Given the description of an element on the screen output the (x, y) to click on. 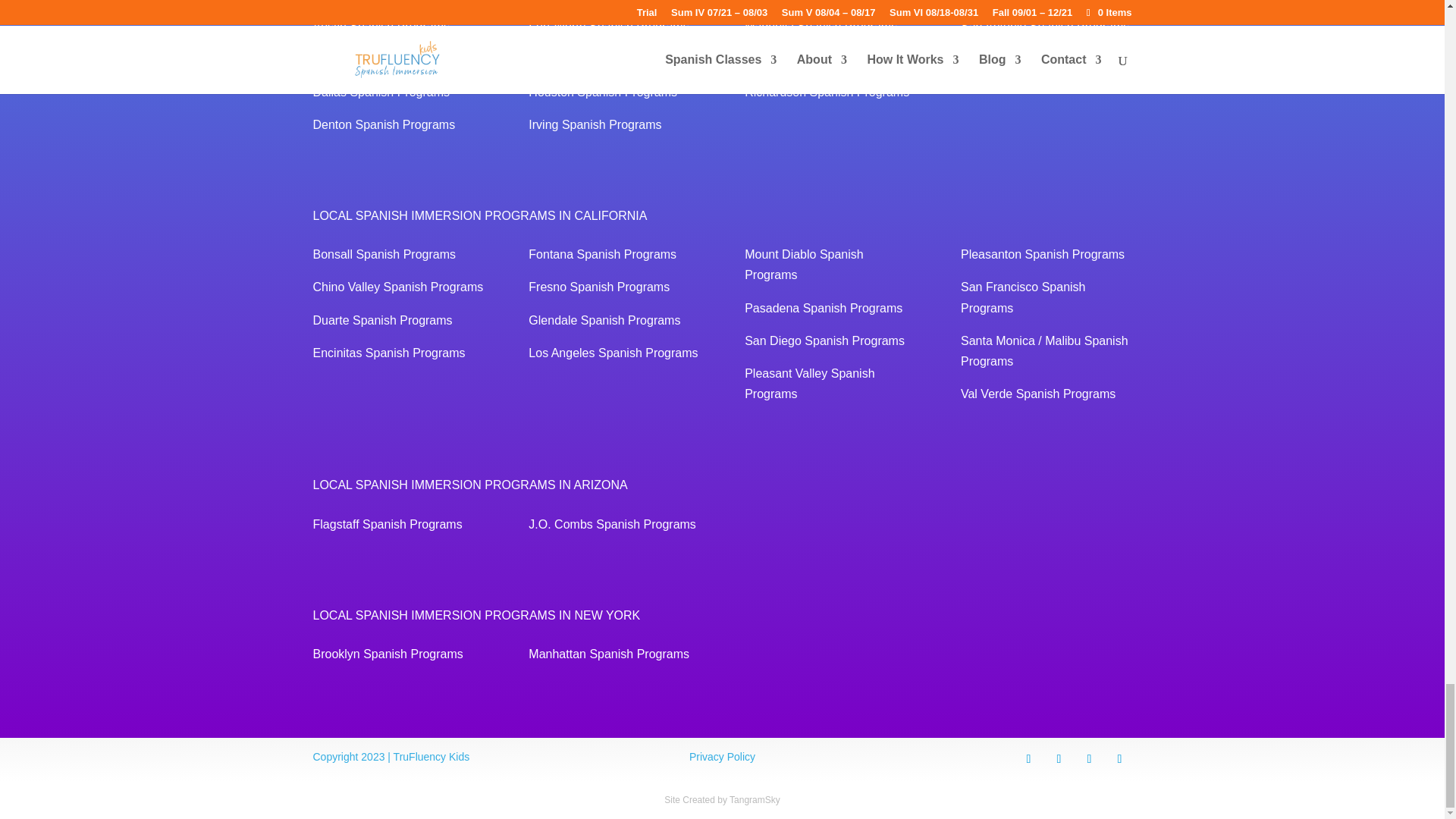
Follow on Instagram (1028, 758)
Follow on Youtube (1058, 758)
Follow on Google (1118, 758)
Follow on Facebook (1088, 758)
